Given the description of an element on the screen output the (x, y) to click on. 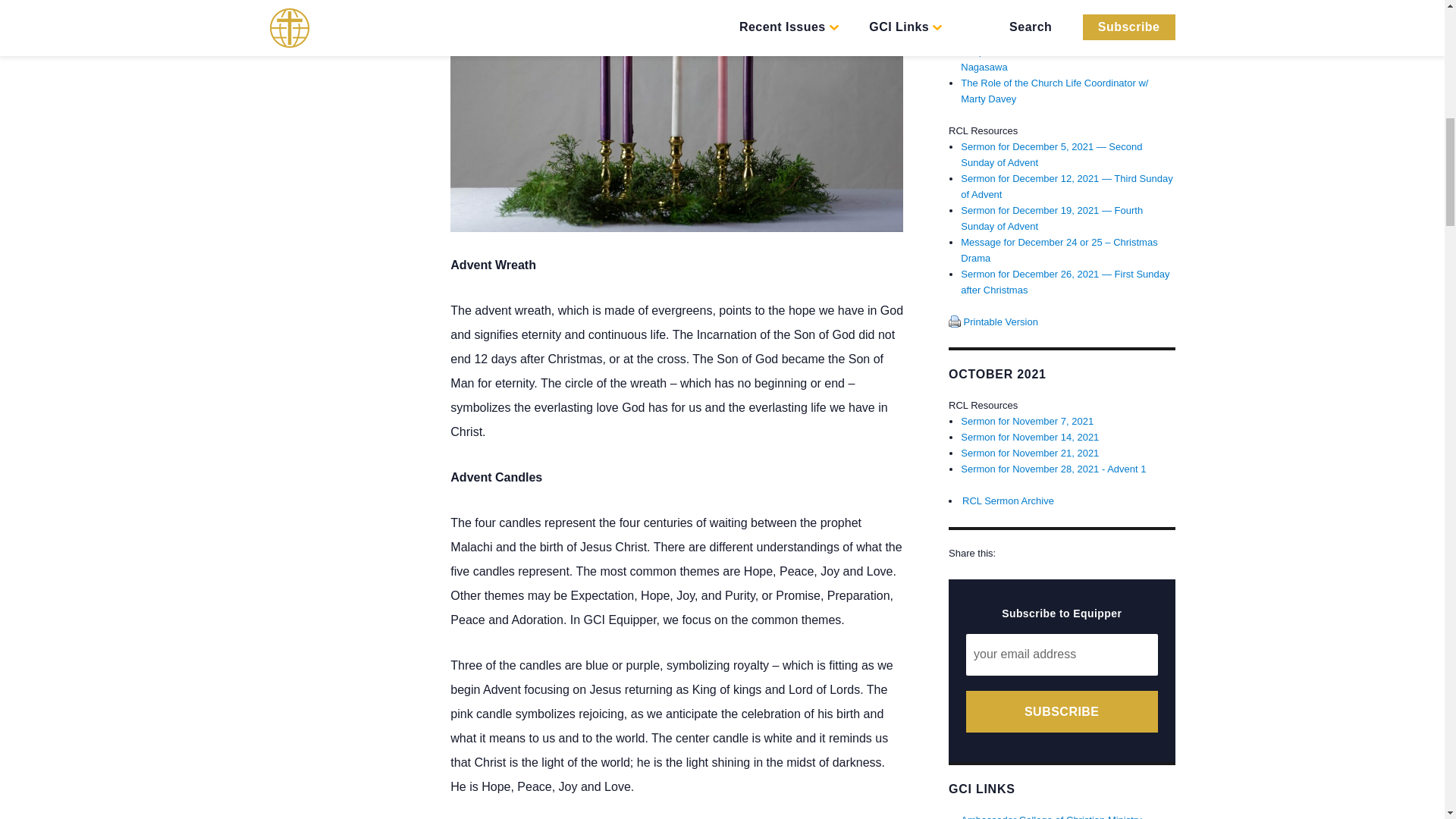
email address (1061, 654)
